Given the description of an element on the screen output the (x, y) to click on. 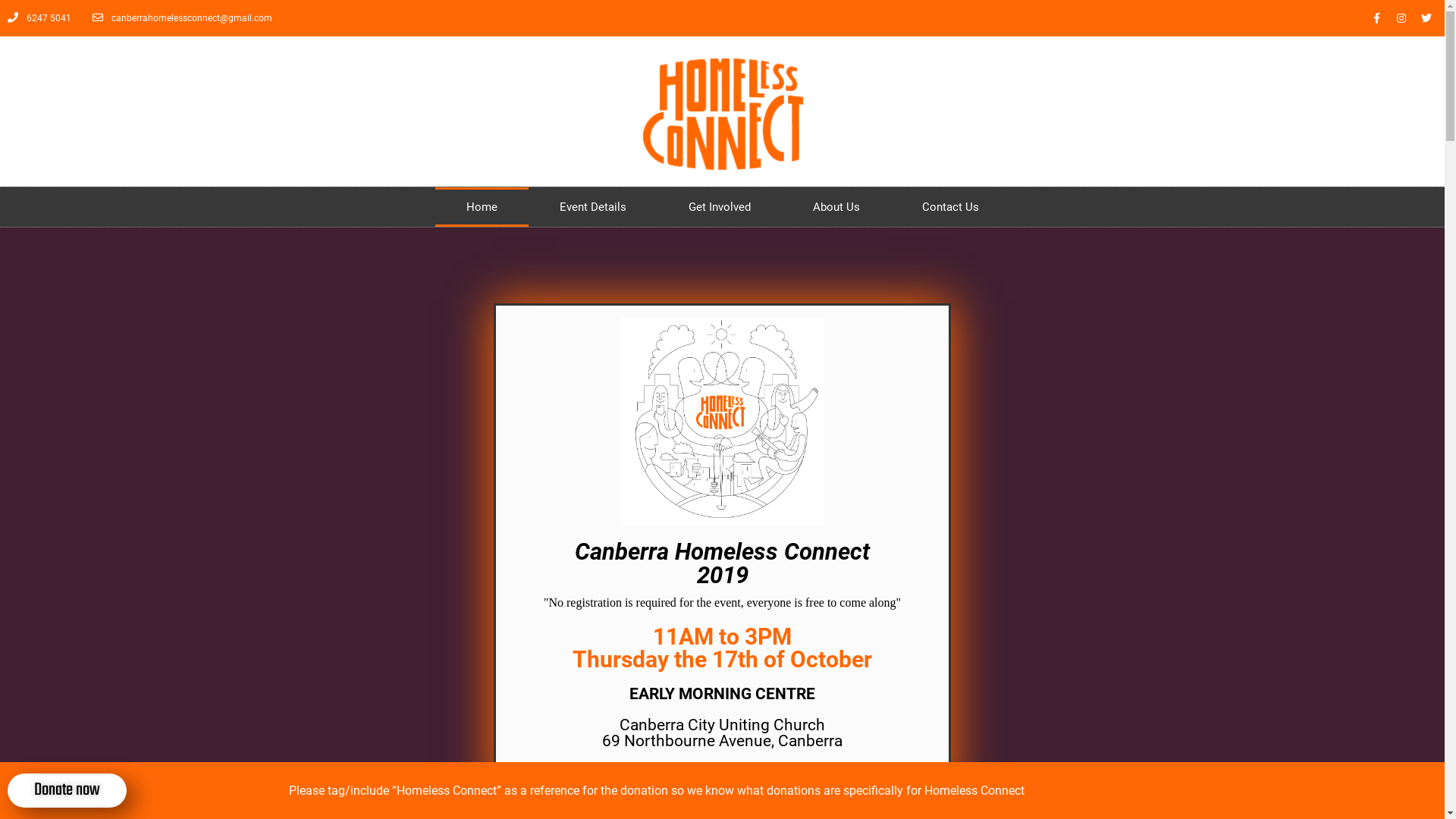
About Us Element type: text (835, 206)
6247 5041 Element type: text (39, 18)
Home Element type: text (481, 206)
Canberra City Uniting Church
69 Northbourne Avenue, Canberra Element type: text (722, 732)
Contact Us Element type: text (949, 206)
Event Details Element type: text (591, 206)
canberrahomelessconnect@gmail.com Element type: text (182, 18)
Donate now Element type: text (66, 790)
Get Involved Element type: text (718, 206)
